Given the description of an element on the screen output the (x, y) to click on. 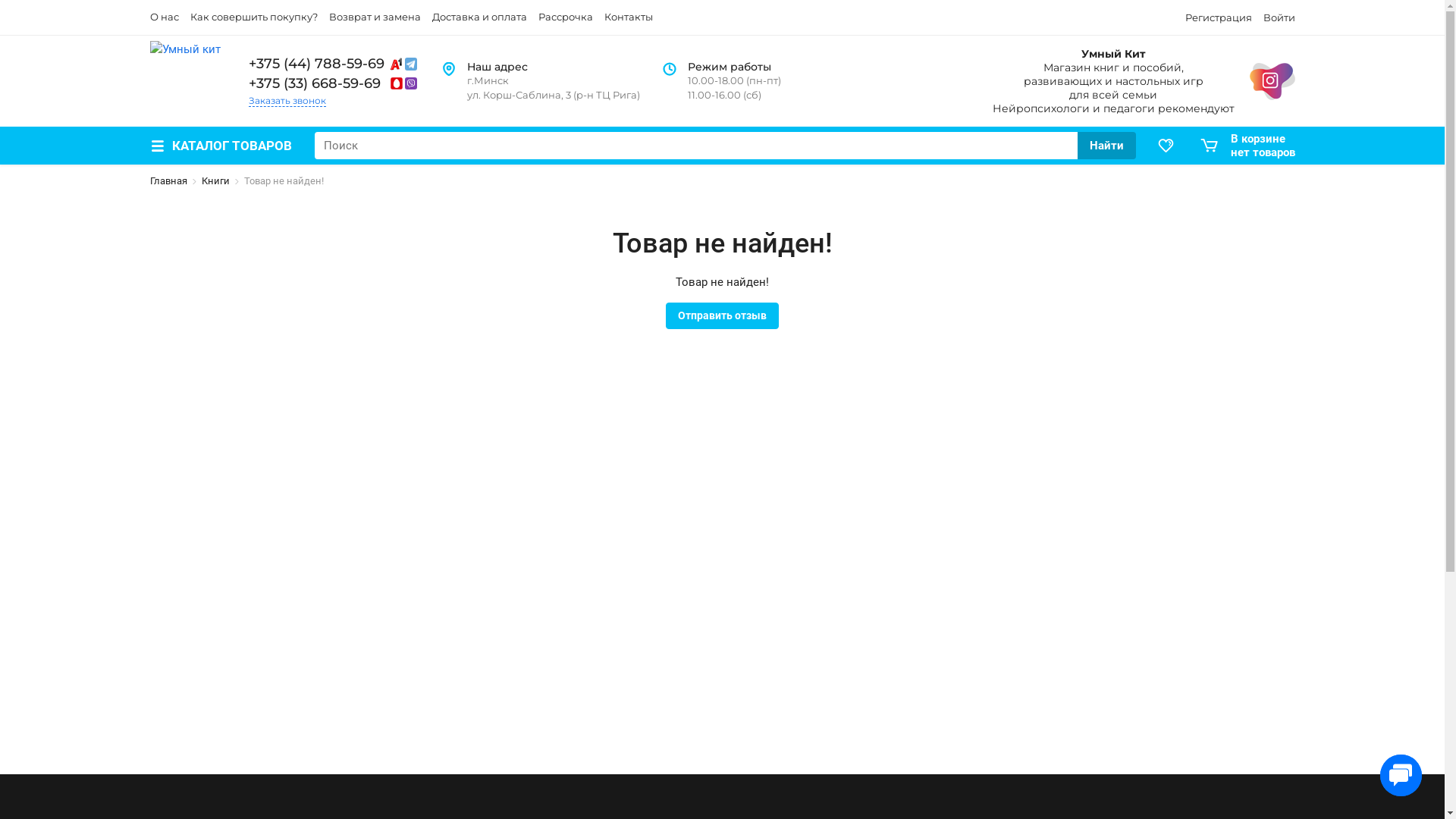
+375 (44) 788-59-69 Element type: text (333, 63)
+375 (33) 668-59-69 Element type: text (333, 83)
